Given the description of an element on the screen output the (x, y) to click on. 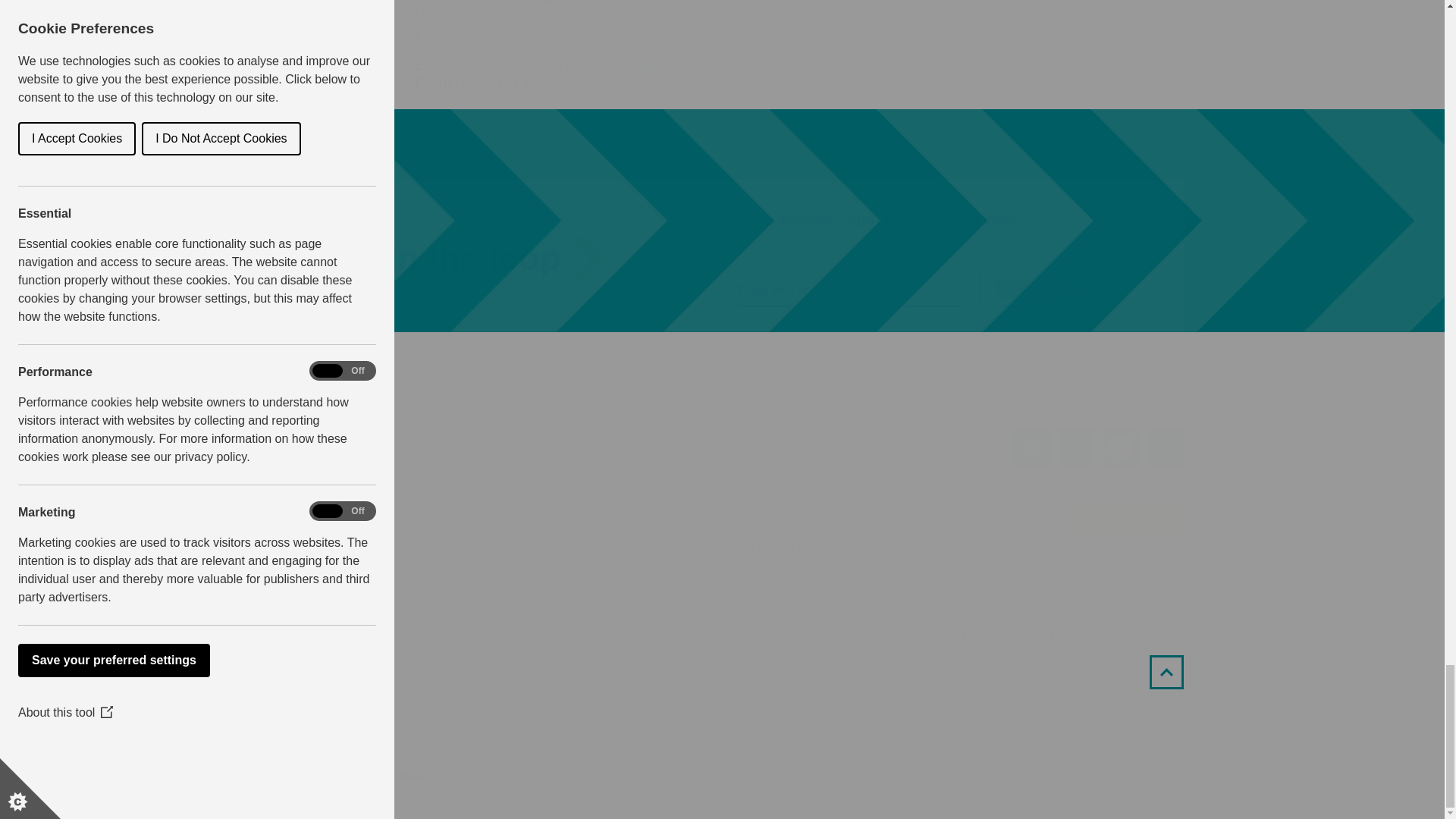
BACK TO TOP (1179, 669)
Linkedin (1076, 448)
Instagram (1120, 447)
Youtube (1164, 447)
Subscribe  (1027, 289)
Twitter (1031, 447)
